Given the description of an element on the screen output the (x, y) to click on. 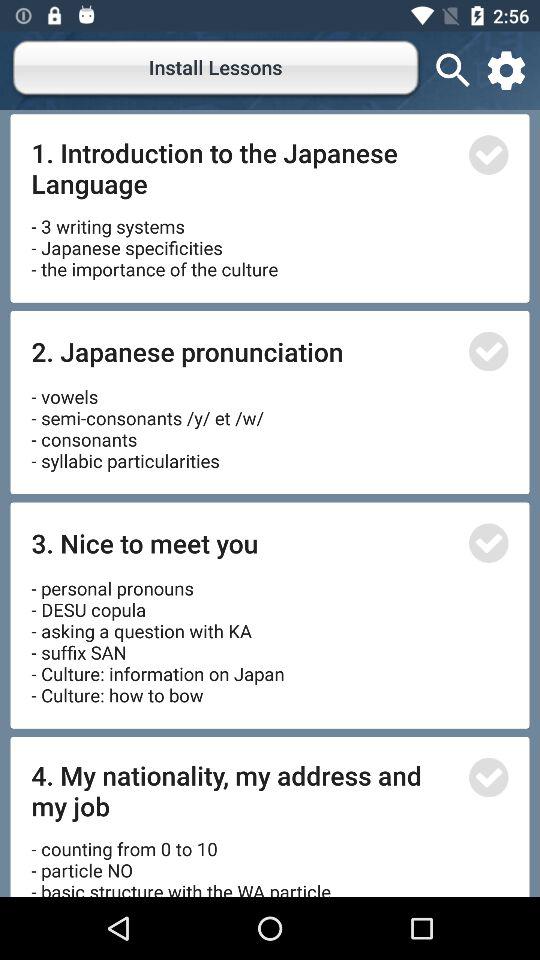
tap the icon above 3 writing systems (243, 167)
